Given the description of an element on the screen output the (x, y) to click on. 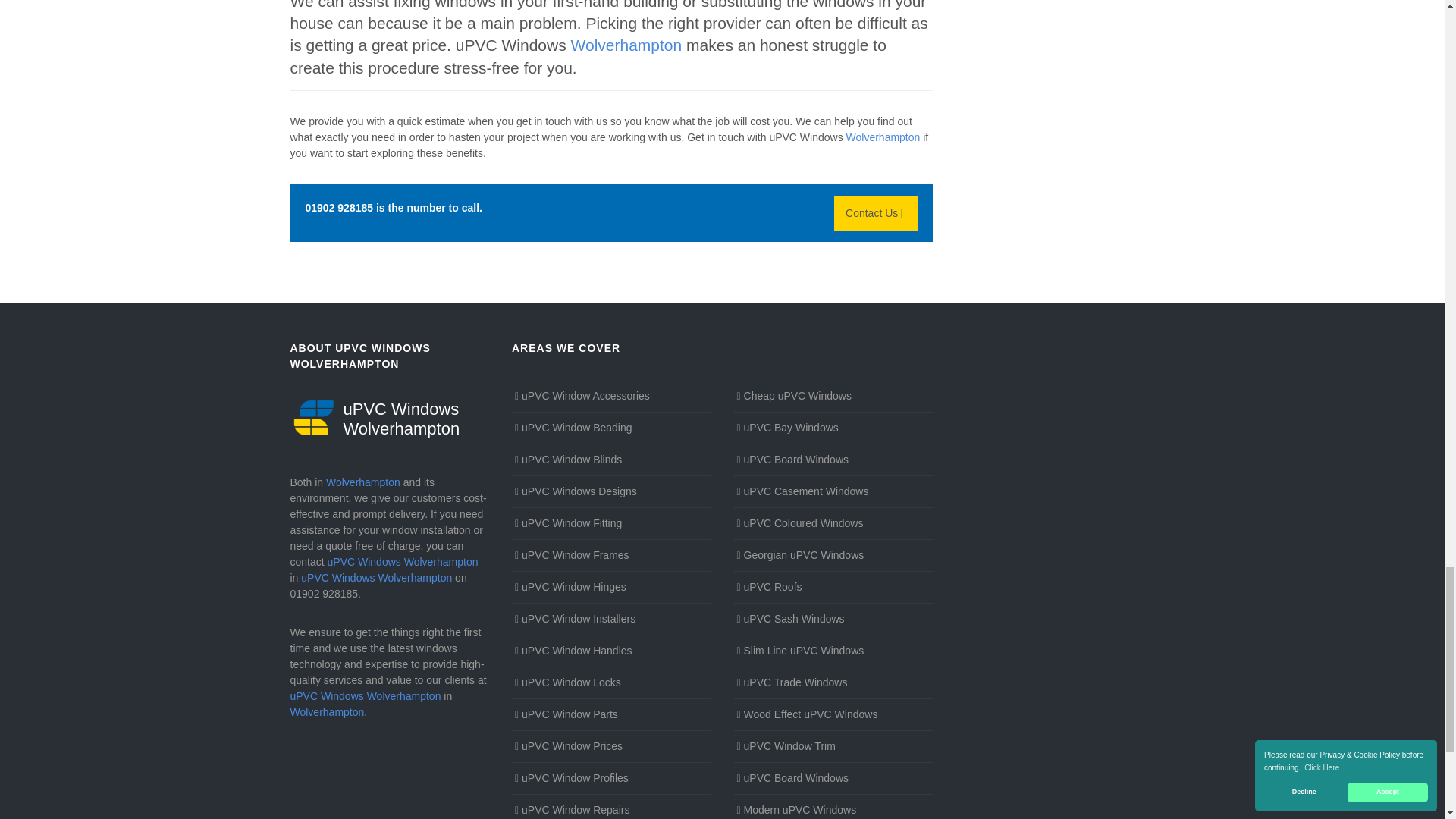
uPVC Windows Wolverhampton (389, 417)
